Given the description of an element on the screen output the (x, y) to click on. 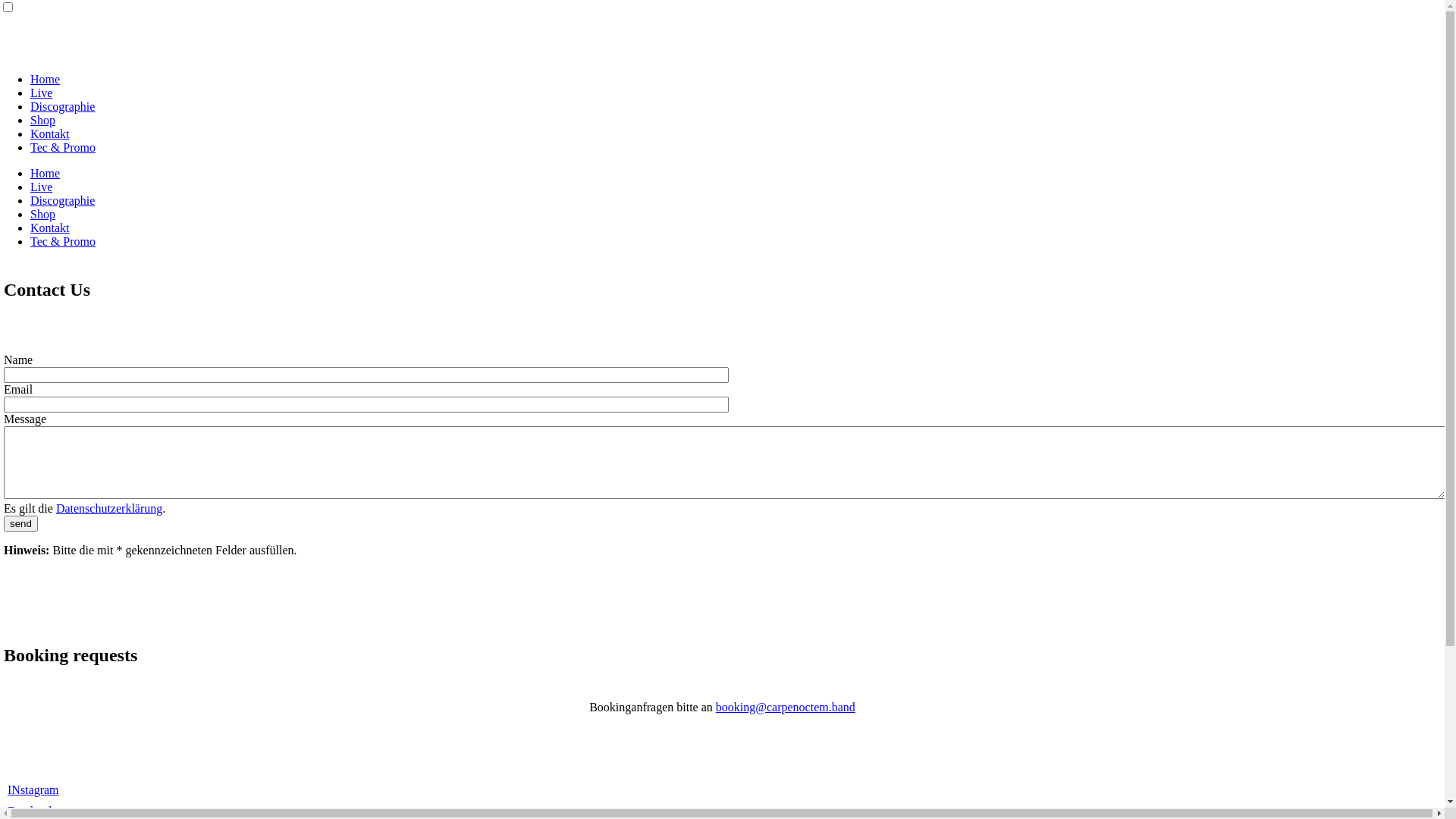
send Element type: text (20, 523)
Live Element type: text (41, 186)
INstagram Element type: text (33, 789)
Discographie Element type: text (62, 106)
Kontakt Element type: text (49, 227)
Shop Element type: text (42, 213)
Shop Element type: text (42, 119)
Tec & Promo Element type: text (62, 241)
Home Element type: text (44, 172)
Tec & Promo Element type: text (62, 147)
booking@carpenoctem.band Element type: text (785, 706)
Facebook Element type: text (30, 810)
Live Element type: text (41, 92)
Kontakt Element type: text (49, 133)
Discographie Element type: text (62, 200)
Home Element type: text (44, 78)
